Given the description of an element on the screen output the (x, y) to click on. 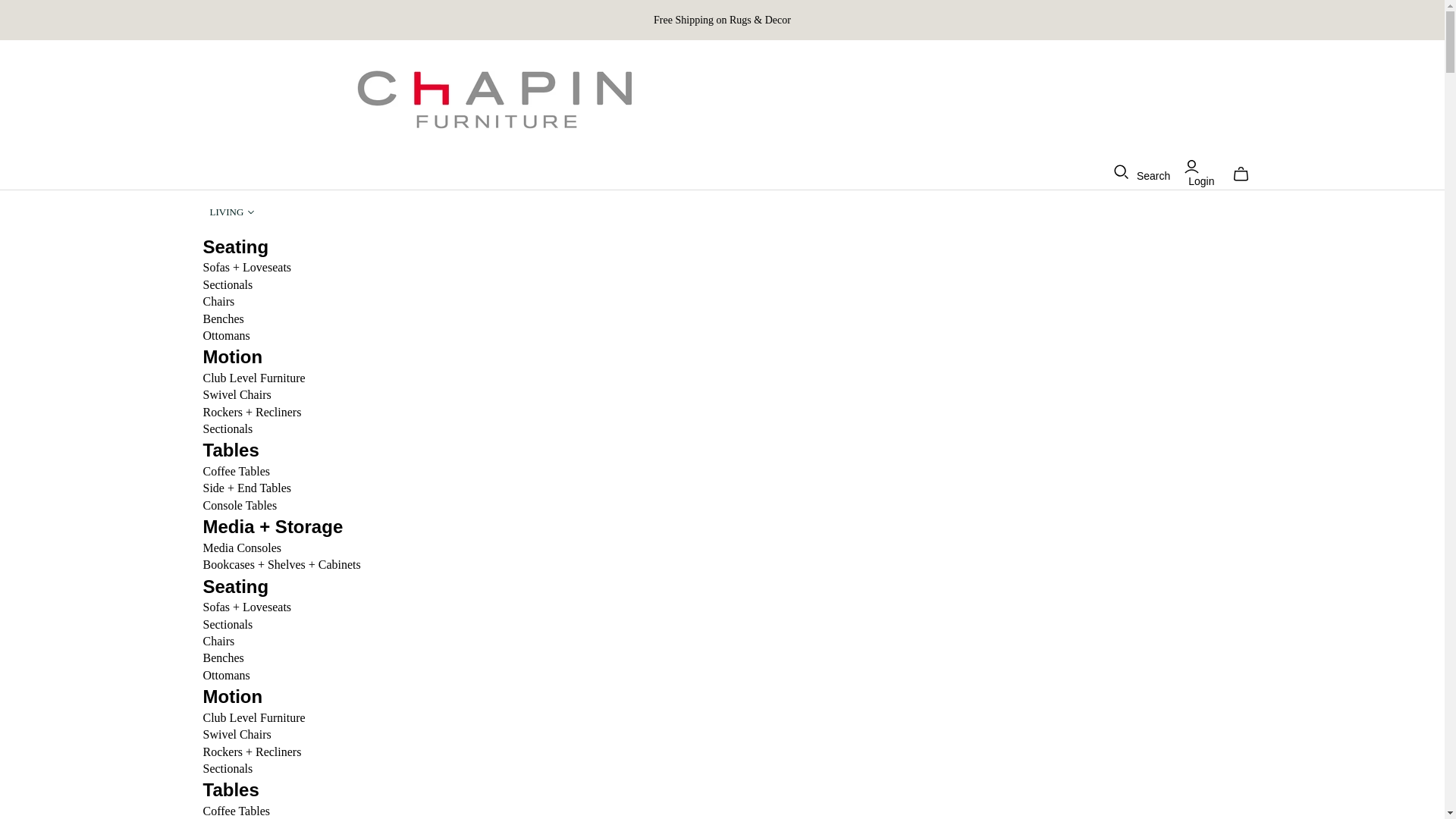
Sectionals (228, 428)
Chairs (218, 640)
Swivel Chairs (236, 394)
Sectionals (228, 284)
Seating (236, 246)
Ottomans (226, 335)
Club Level Furniture (254, 377)
Sectionals (228, 624)
Benches (223, 657)
Motion (233, 356)
